Given the description of an element on the screen output the (x, y) to click on. 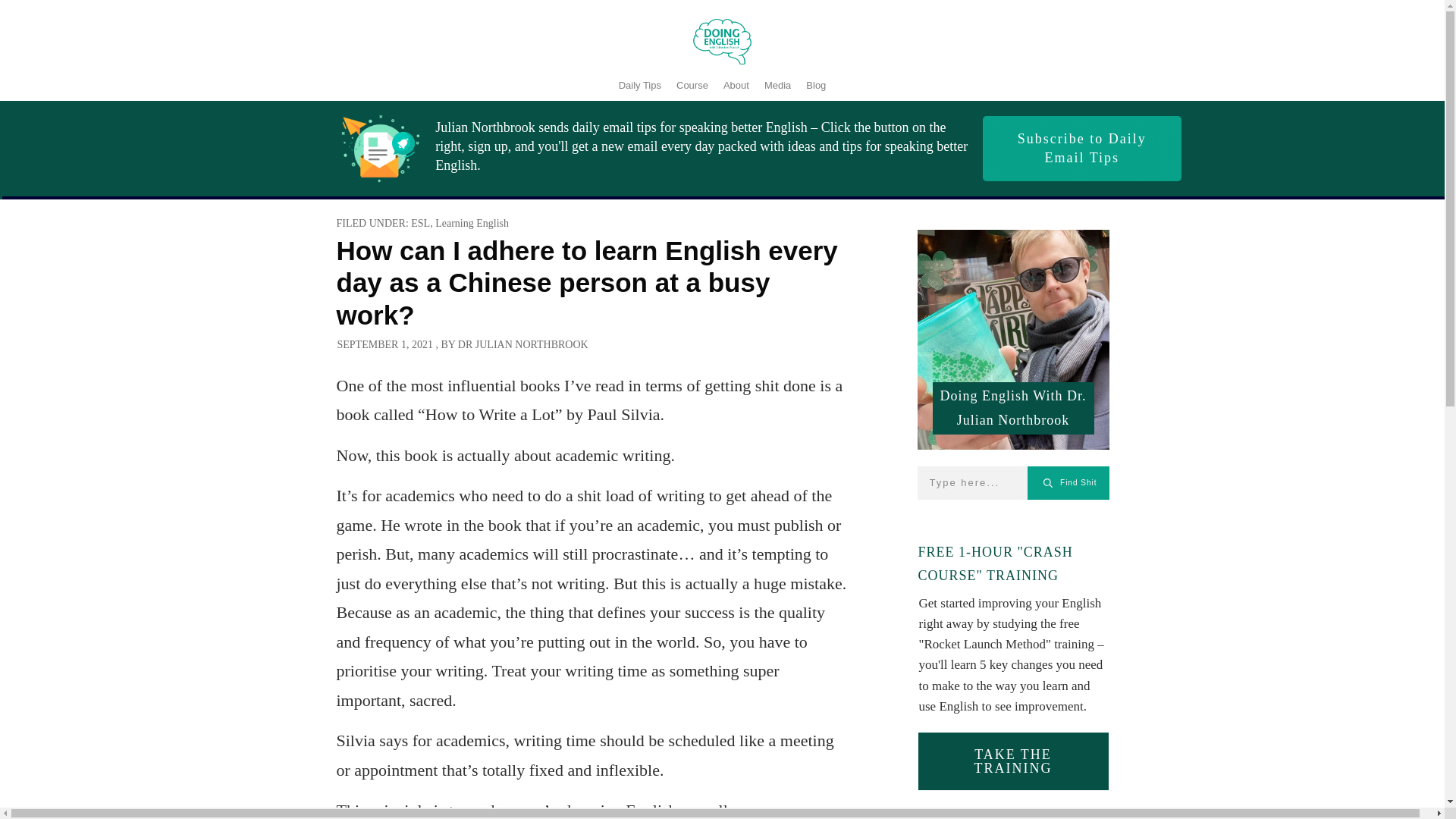
Find Shit (1067, 482)
Subscribe to Daily Email Tips (1081, 148)
Learning English (471, 223)
ESL (419, 223)
Course (692, 85)
Daily Tips (639, 85)
Learning English (471, 223)
TAKE THE TRAINING (1012, 761)
About (736, 85)
